Given the description of an element on the screen output the (x, y) to click on. 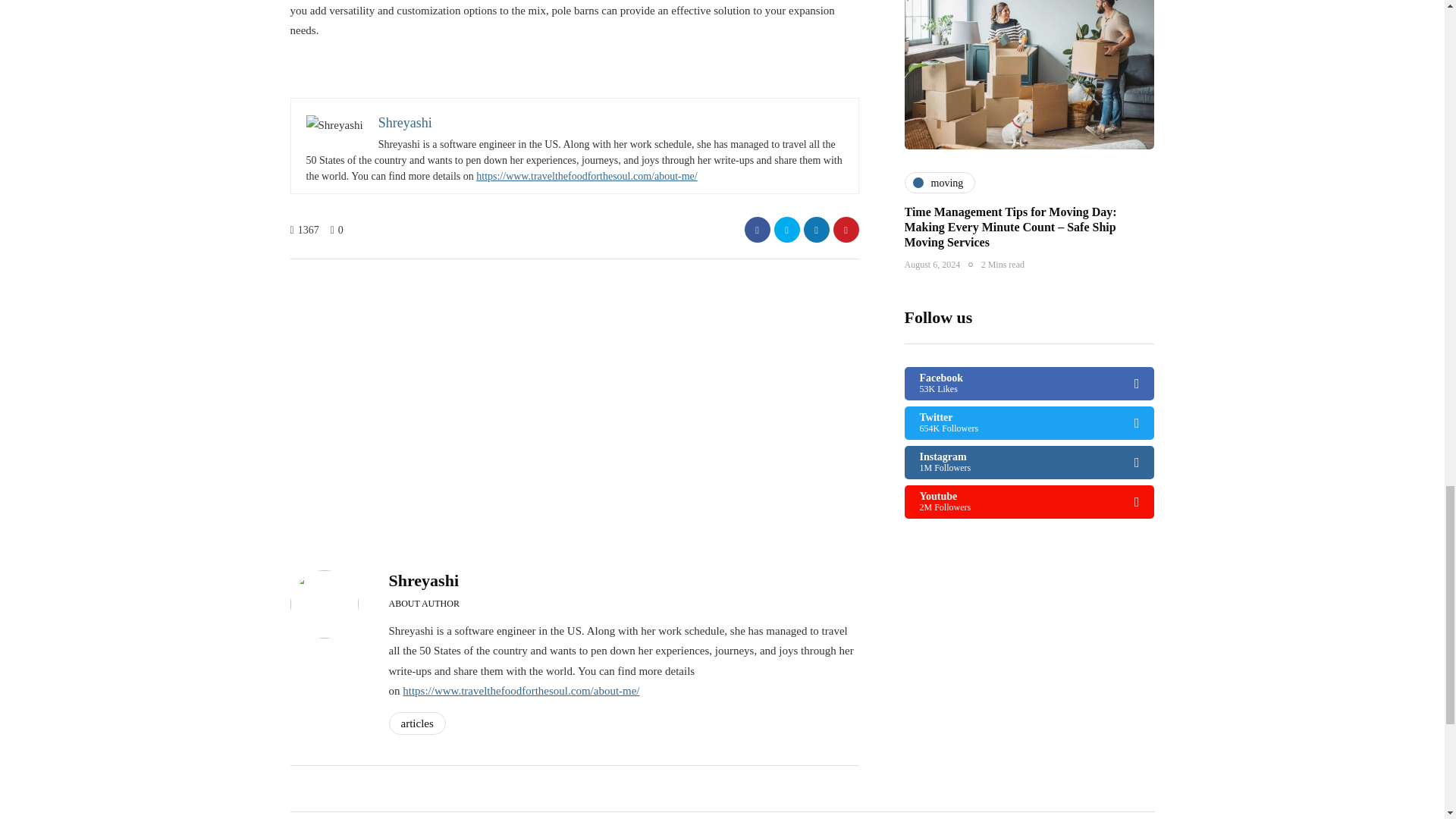
Pin this (845, 229)
Share with LinkedIn (816, 229)
Shreyashi (405, 122)
Tweet this (786, 229)
Posts by Shreyashi (423, 579)
Share with Facebook (757, 229)
